Given the description of an element on the screen output the (x, y) to click on. 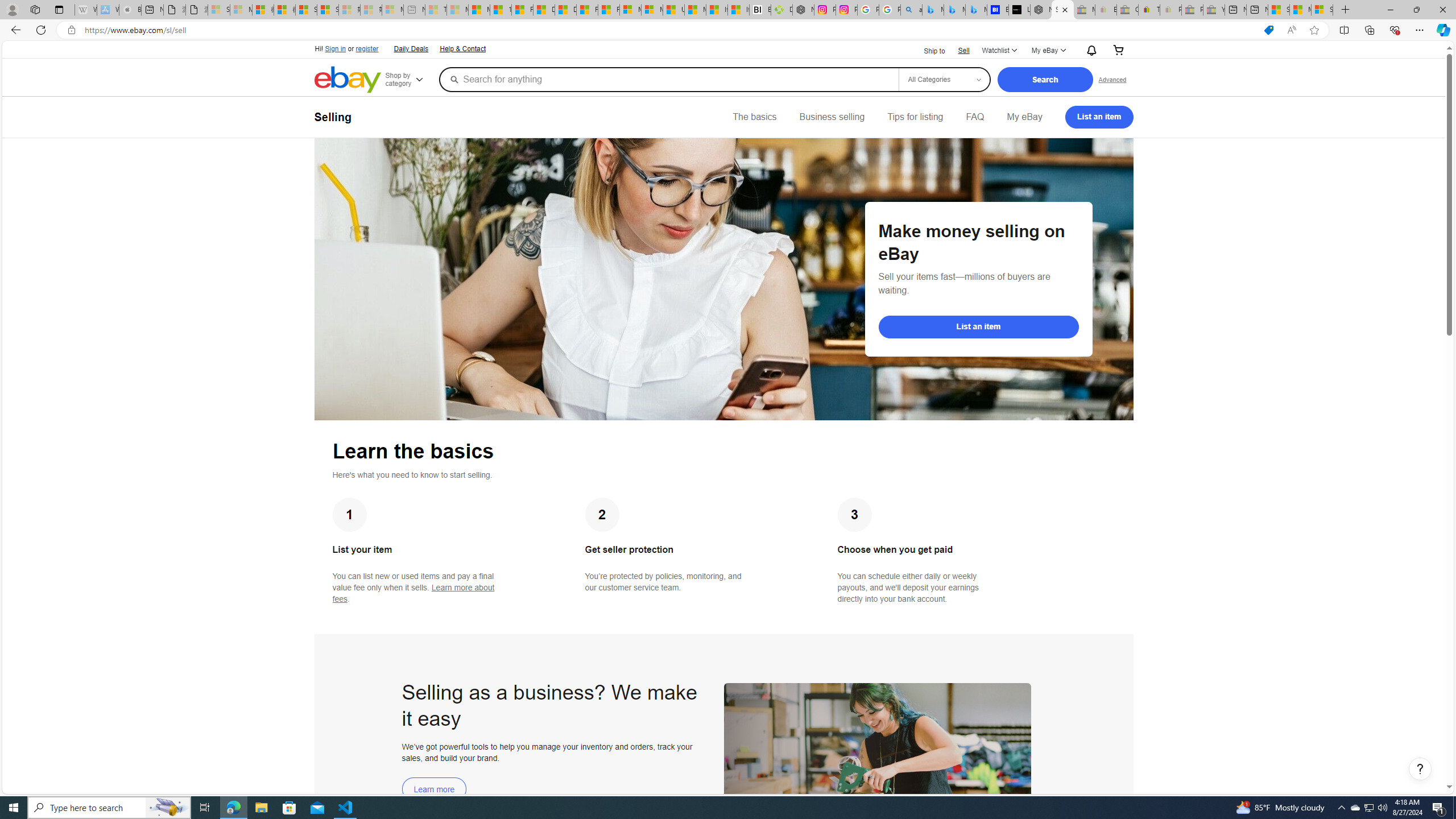
The basics (754, 116)
Food and Drink - MSN (522, 9)
Daily Deals (411, 49)
eBay Home (347, 79)
Search for anything (667, 78)
My eBay (1024, 116)
Descarga Driver Updater (781, 9)
